Given the description of an element on the screen output the (x, y) to click on. 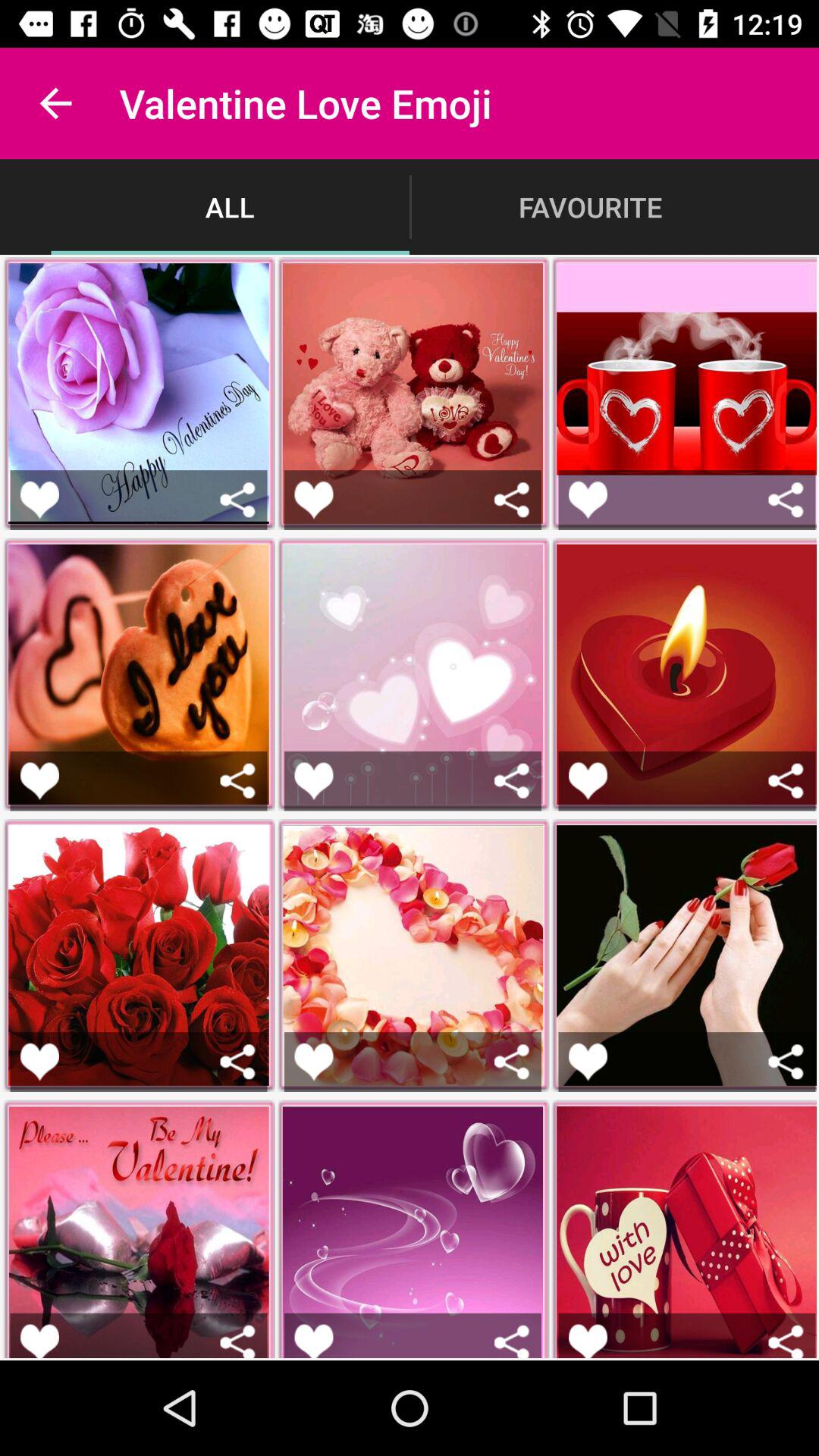
share the emoji or sticker (785, 1061)
